Given the description of an element on the screen output the (x, y) to click on. 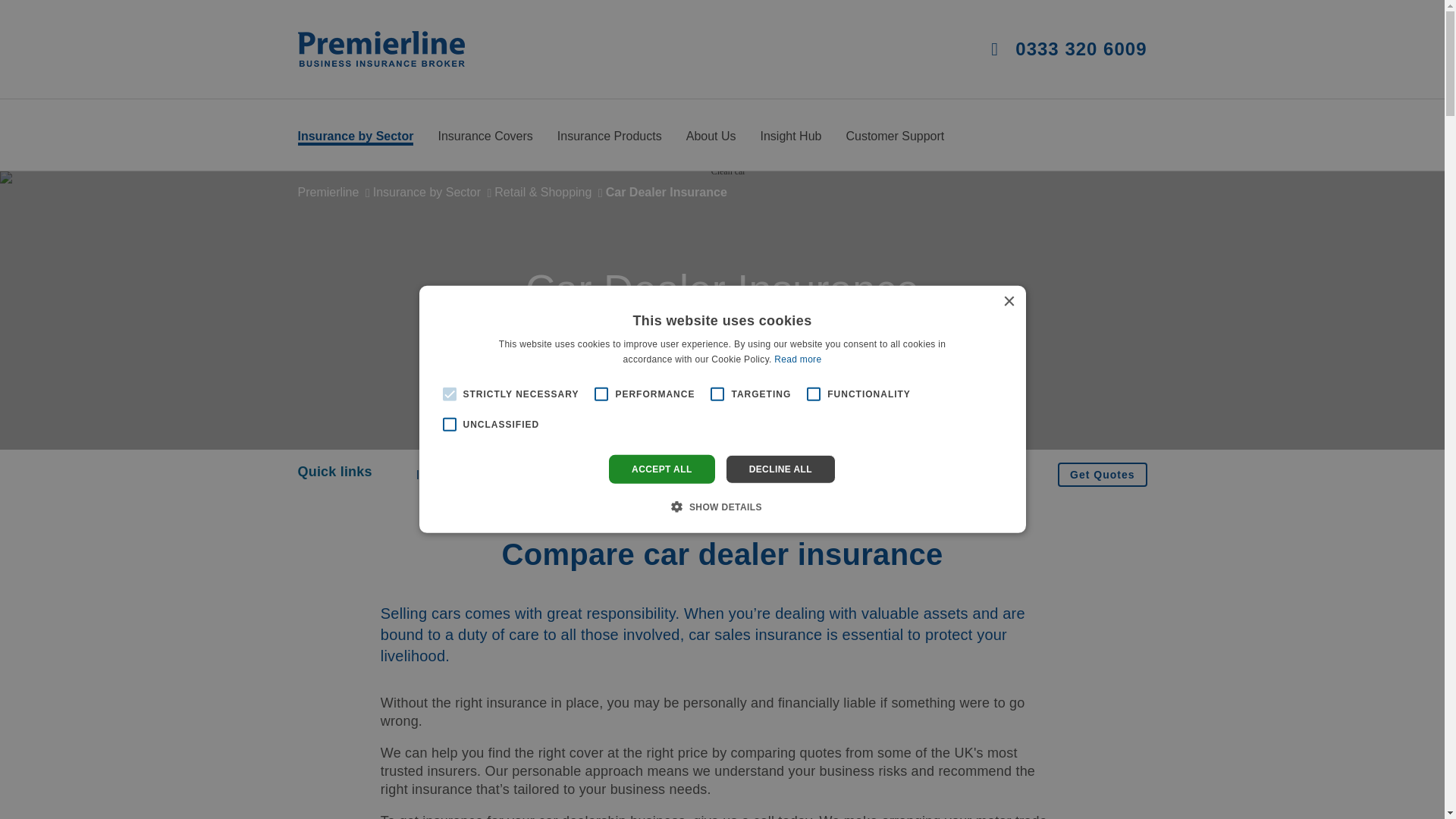
Insurance by Sector (355, 137)
0333 320 6009 (1069, 49)
